Given the description of an element on the screen output the (x, y) to click on. 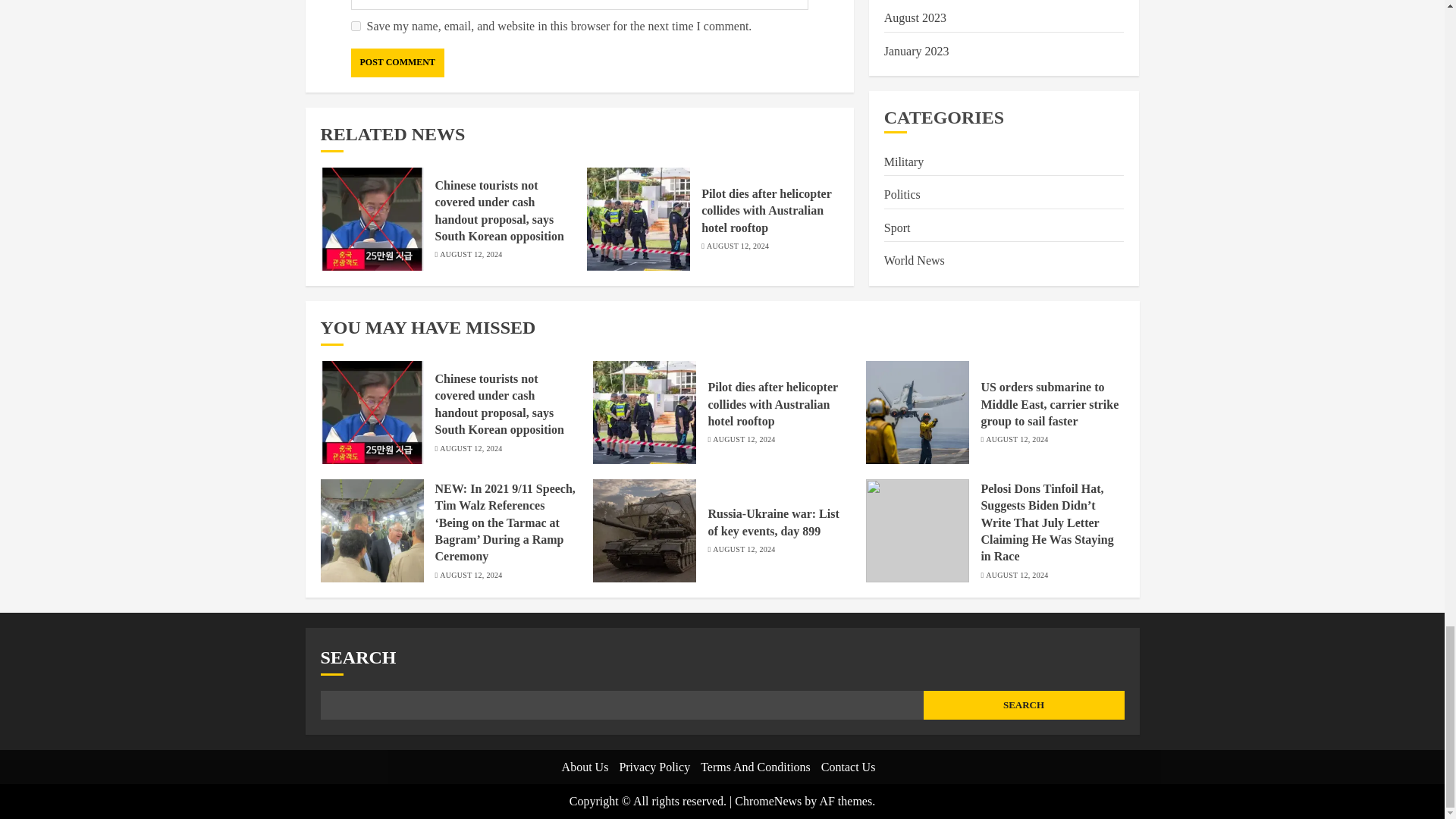
AUGUST 12, 2024 (470, 254)
yes (354, 26)
AUGUST 12, 2024 (737, 245)
Post Comment (397, 62)
Post Comment (397, 62)
